Given the description of an element on the screen output the (x, y) to click on. 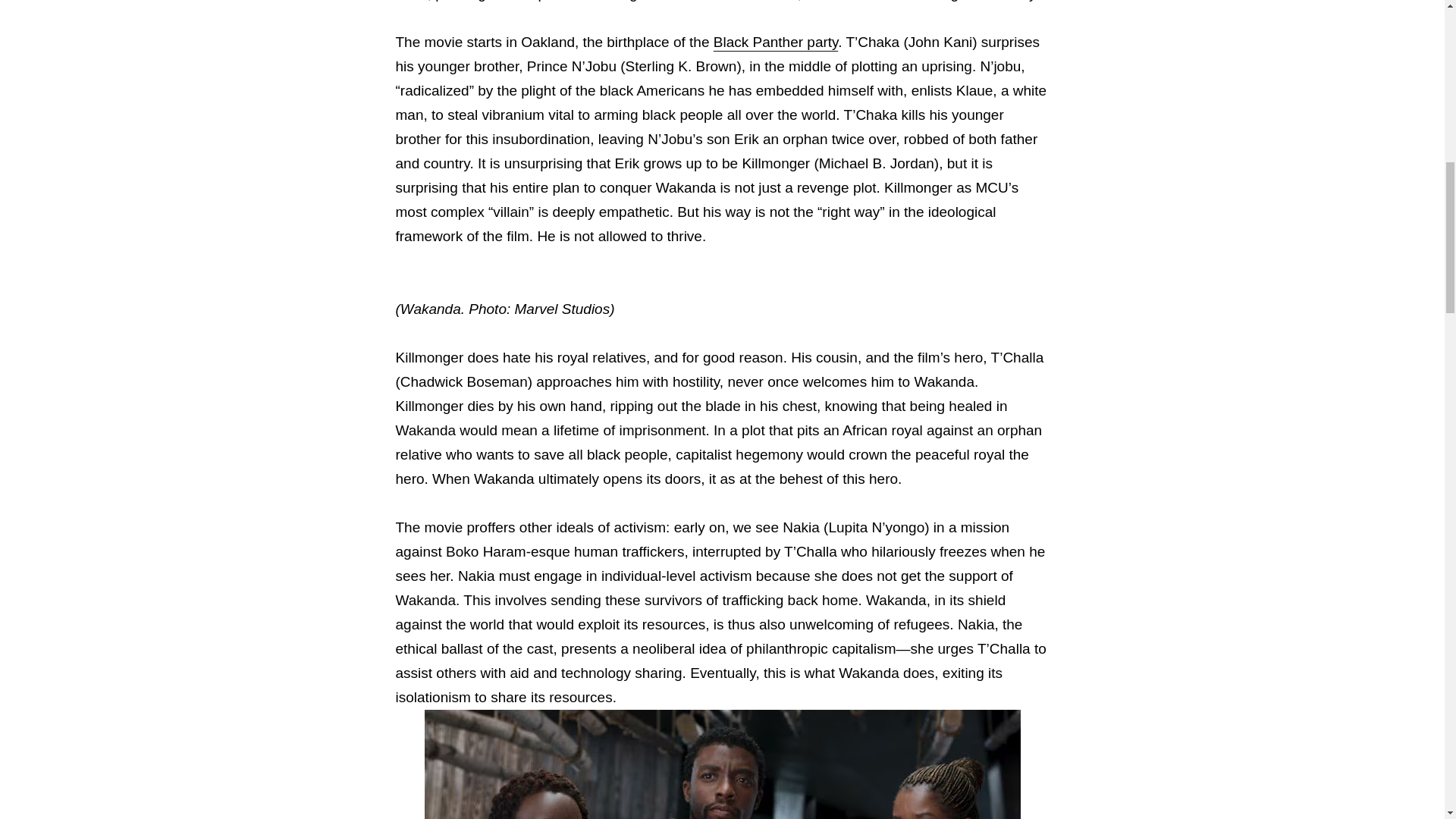
Black Panther party (775, 41)
